Given the description of an element on the screen output the (x, y) to click on. 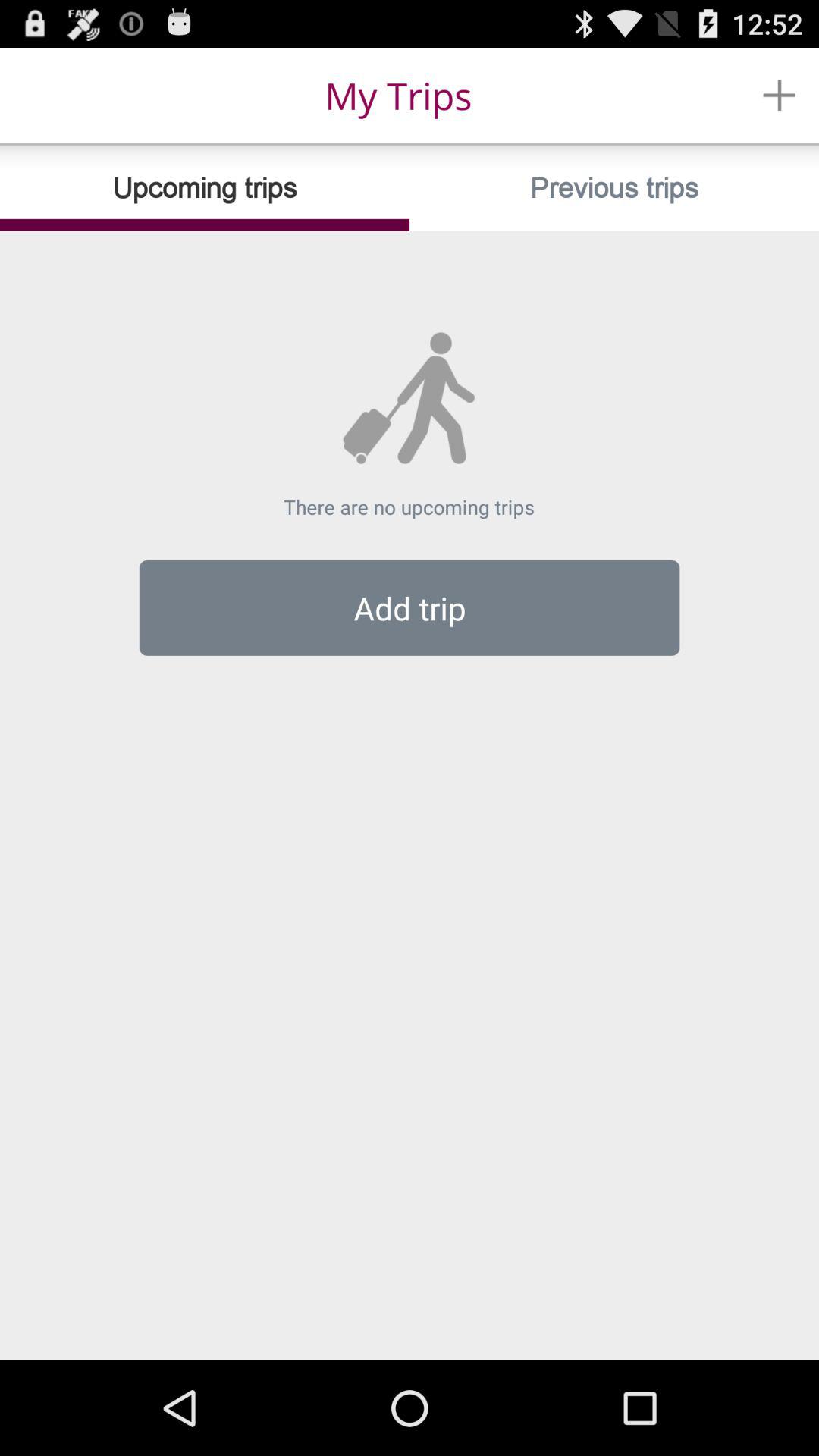
swipe until add trip (409, 607)
